Given the description of an element on the screen output the (x, y) to click on. 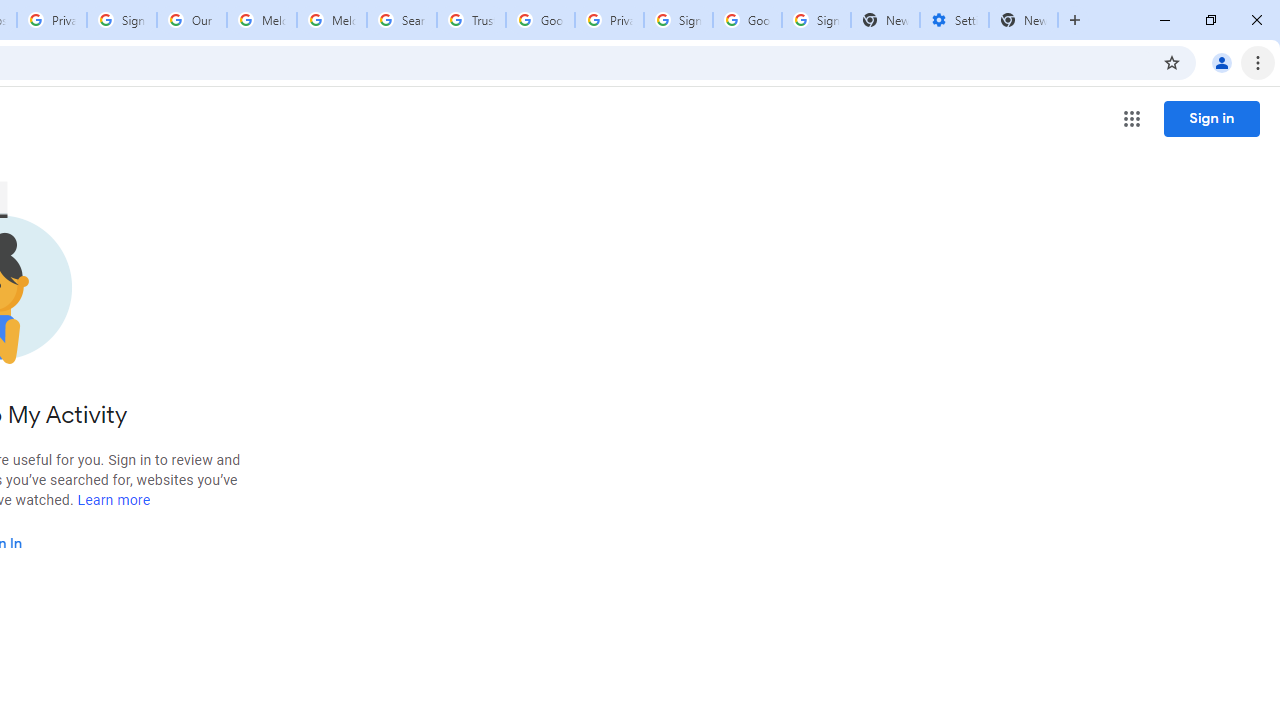
Settings - Addresses and more (954, 20)
Google Cybersecurity Innovations - Google Safety Center (747, 20)
Sign in - Google Accounts (677, 20)
Google Ads - Sign in (539, 20)
Sign in - Google Accounts (122, 20)
Search our Doodle Library Collection - Google Doodles (401, 20)
